Given the description of an element on the screen output the (x, y) to click on. 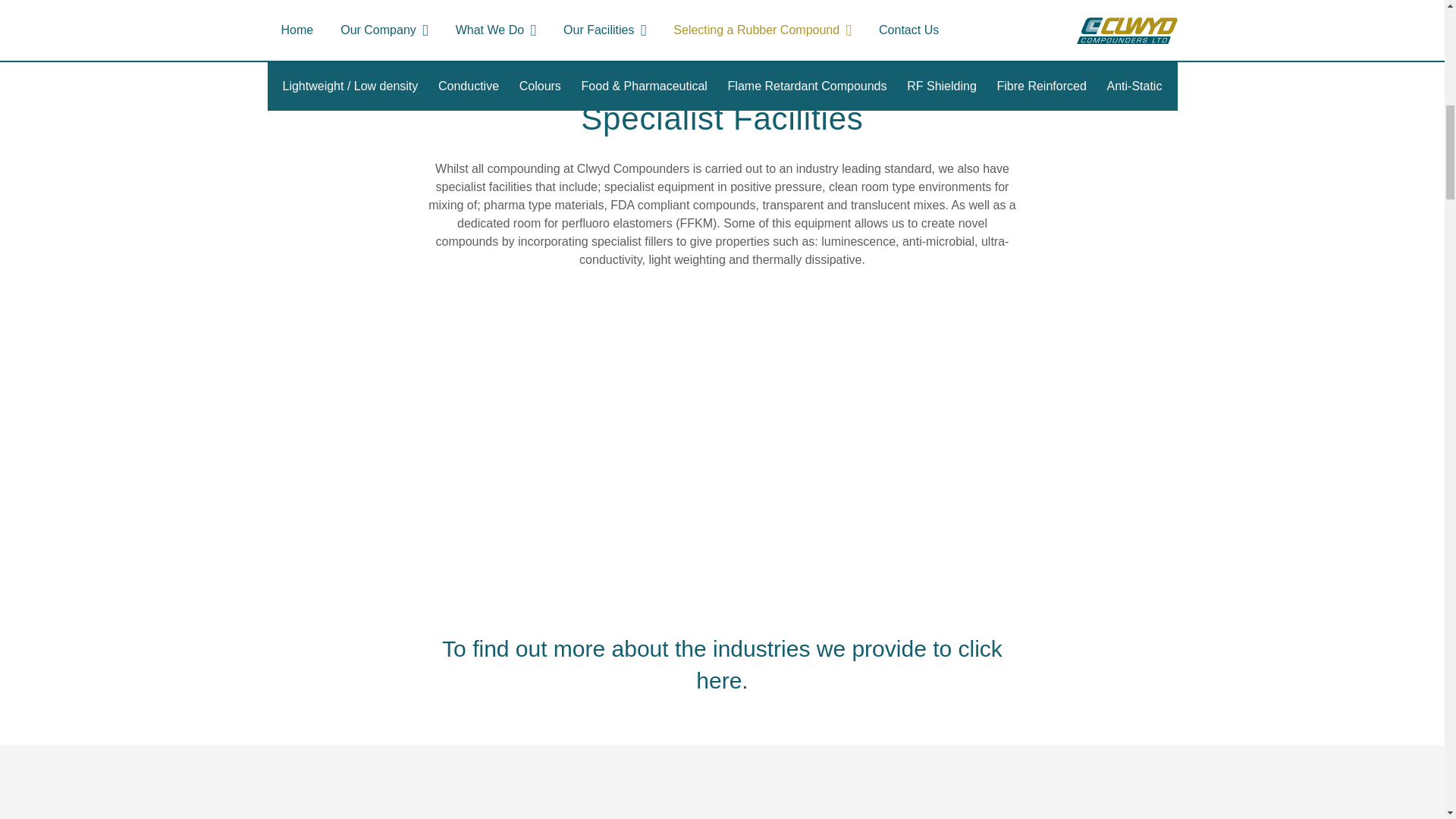
Back to top (1413, 30)
